Given the description of an element on the screen output the (x, y) to click on. 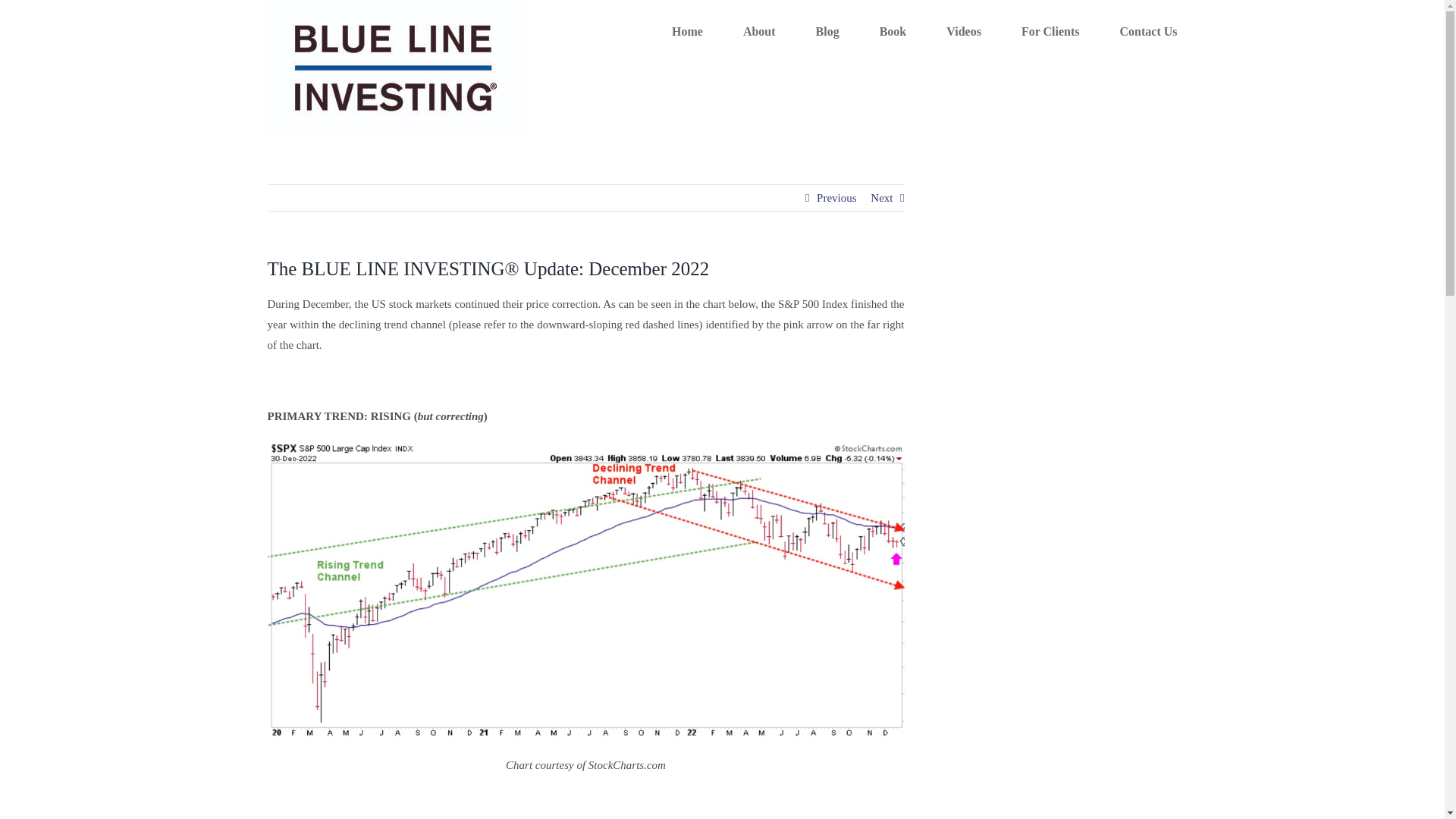
Contact Us (1147, 30)
For Clients (1051, 30)
Previous (836, 197)
